Given the description of an element on the screen output the (x, y) to click on. 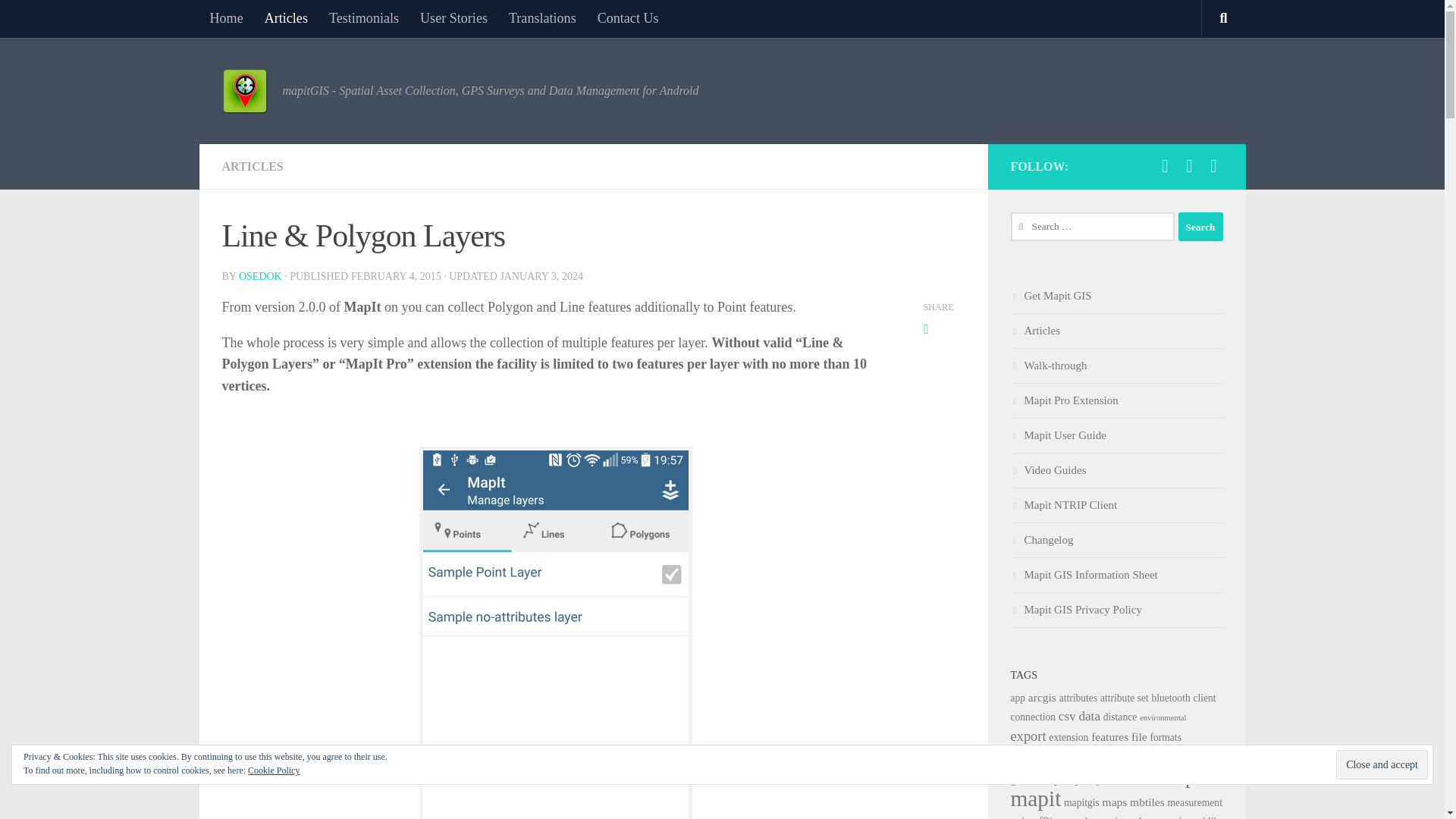
OSEDOK (260, 276)
User Stories (453, 18)
Translations (541, 18)
Skip to content (59, 20)
Follow us on Google (1213, 166)
Home (225, 18)
Articles (285, 18)
Follow us on Facebook (1164, 166)
Follow us on Twitter (1188, 166)
Contact Us (627, 18)
Search (1200, 226)
ARTICLES (251, 165)
Testimonials (363, 18)
Search (1200, 226)
Posts by osedok (260, 276)
